Given the description of an element on the screen output the (x, y) to click on. 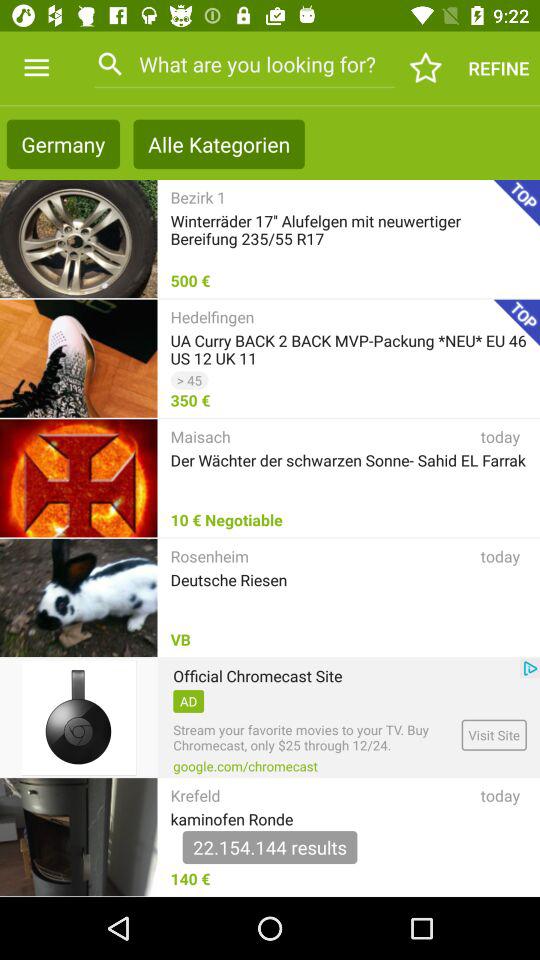
launch what are you icon (244, 63)
